Given the description of an element on the screen output the (x, y) to click on. 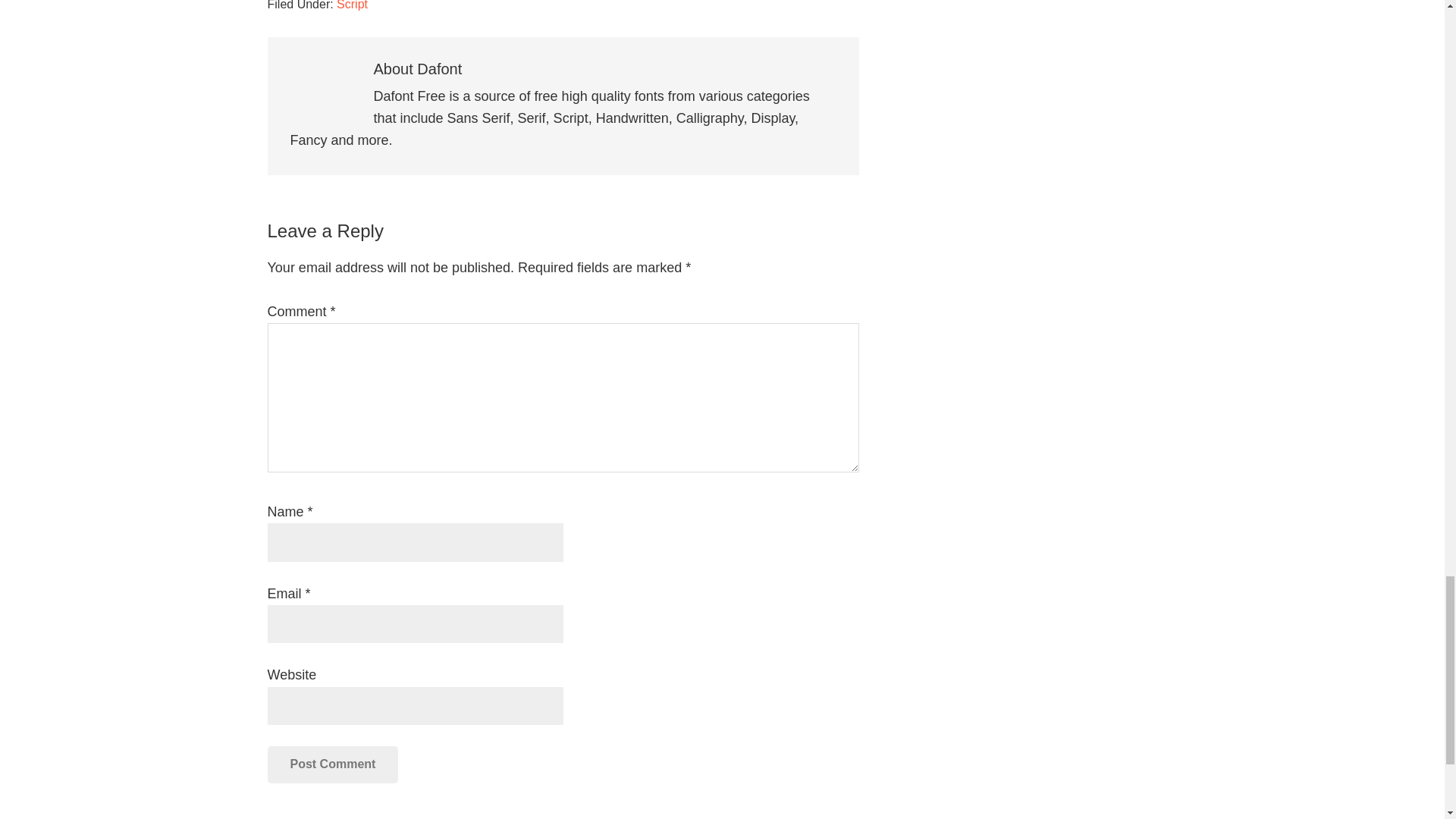
Post Comment (331, 764)
Post Comment (331, 764)
Script (352, 5)
